Given the description of an element on the screen output the (x, y) to click on. 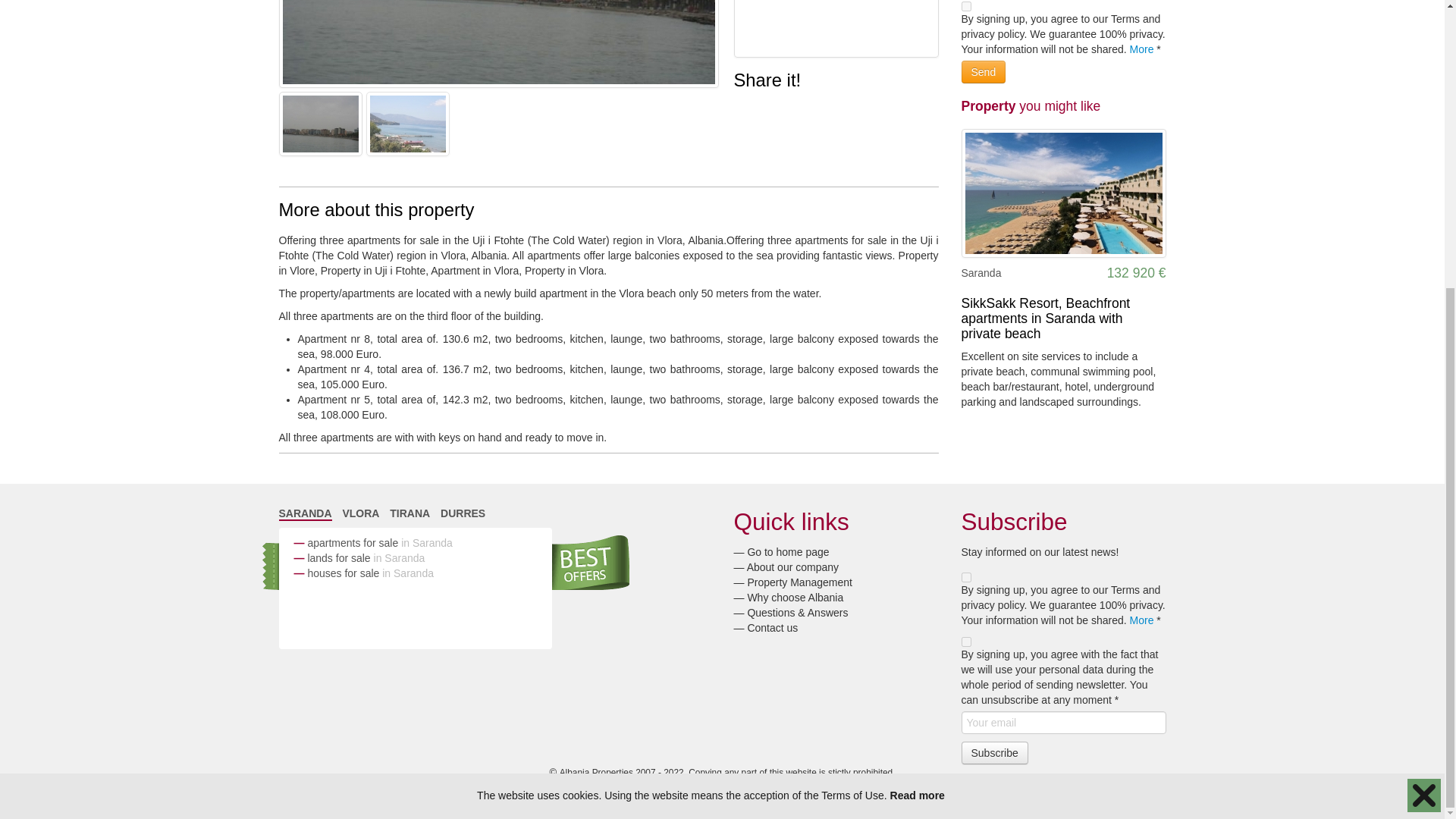
1 (965, 577)
1 (965, 6)
Subscribe (993, 753)
Send (983, 71)
1 (965, 642)
